Given the description of an element on the screen output the (x, y) to click on. 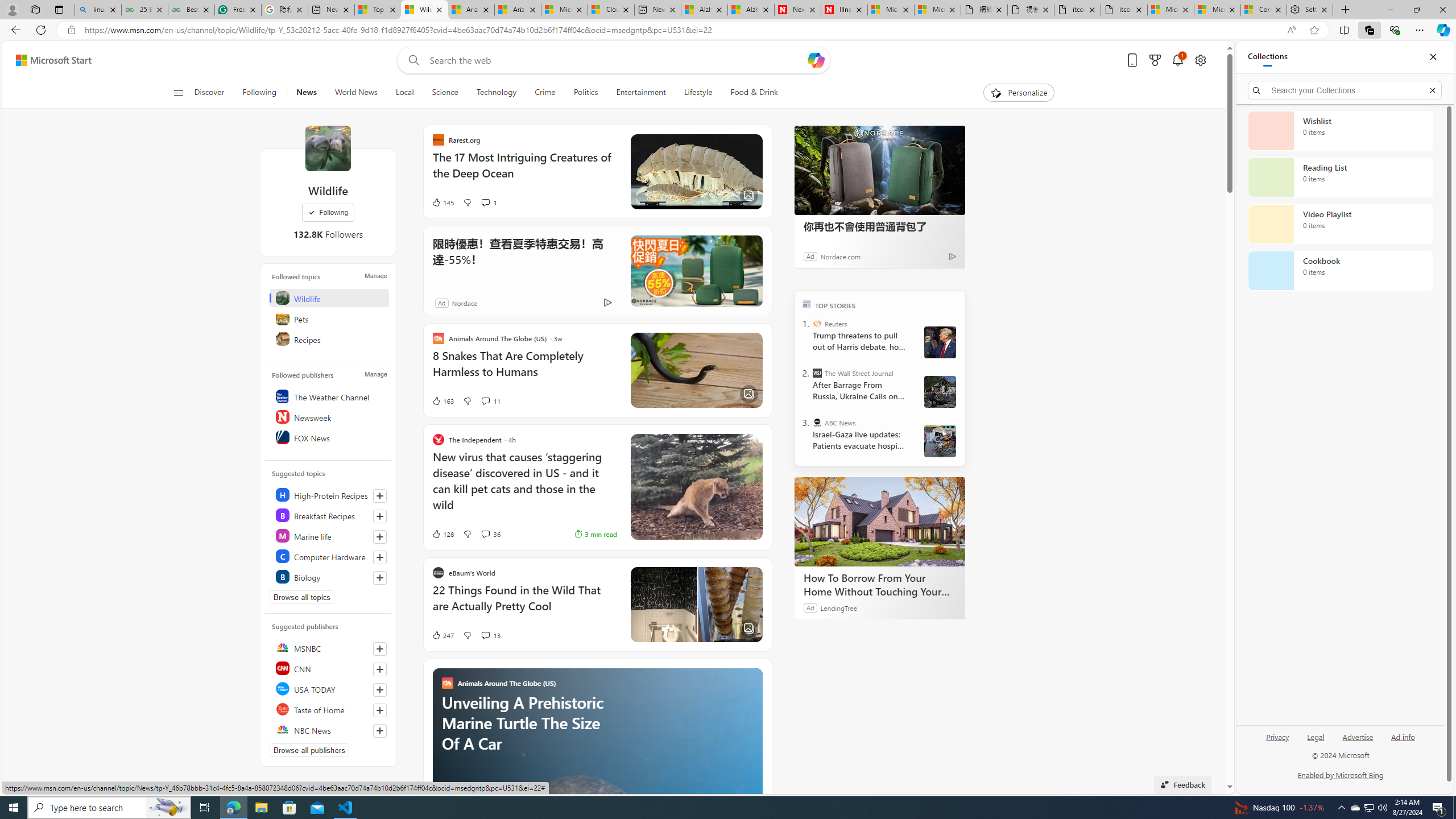
Video Playlist collection, 0 items (1339, 223)
MSNBC (328, 647)
CNN (328, 668)
Browse all topics (301, 597)
Wildlife (328, 298)
